Given the description of an element on the screen output the (x, y) to click on. 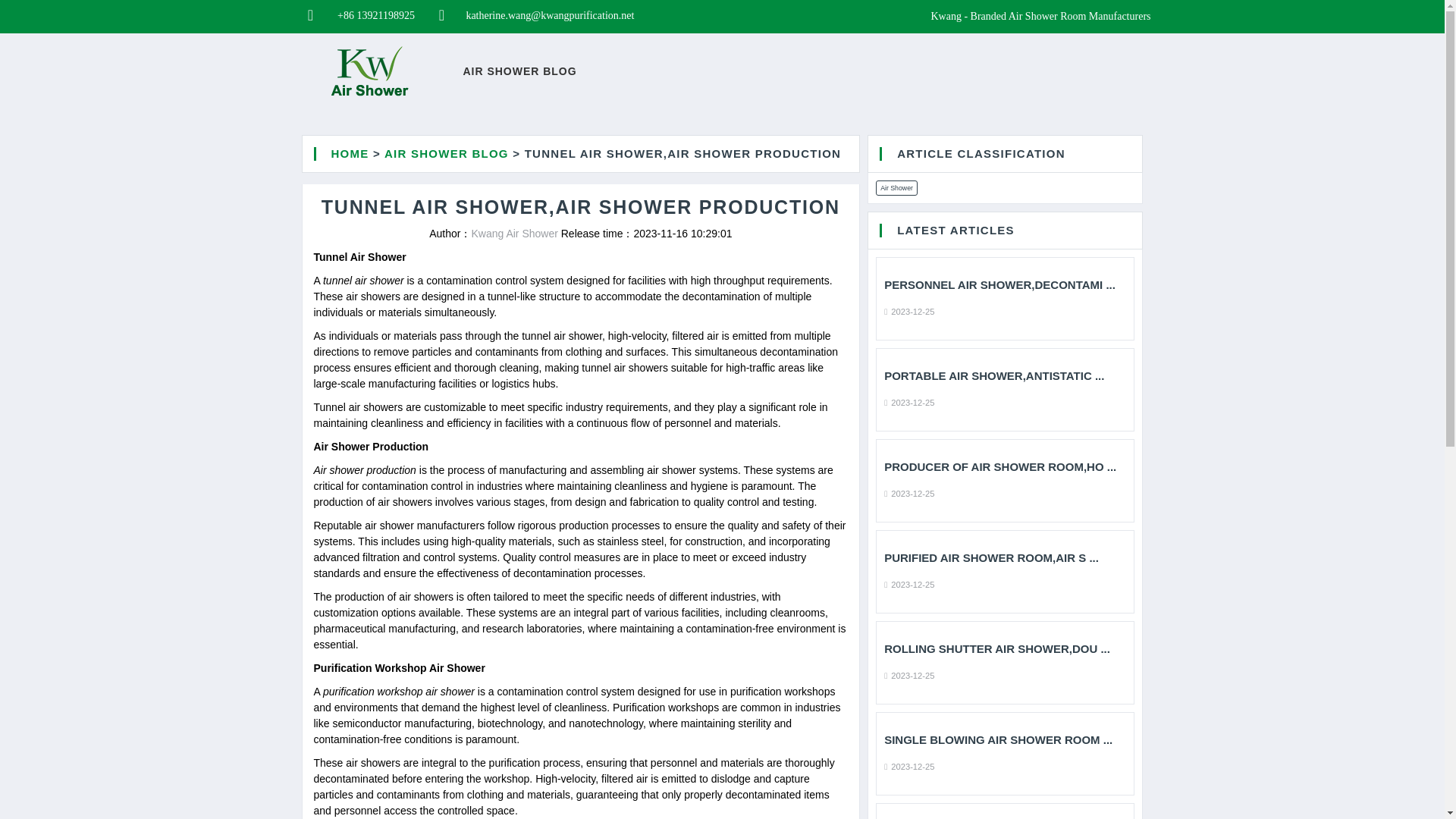
2023-12-25 (908, 492)
2023-12-25 (908, 766)
AIR SHOWER BLOG (446, 153)
Air Shower (896, 187)
PERSONNEL AIR SHOWER,DECONTAMI ... (1004, 284)
PRODUCER OF AIR SHOWER ROOM,HO ... (1004, 467)
Kwang Air Shower (513, 233)
ROLLING SHUTTER AIR SHOWER,DOU ... (1004, 649)
SINGLE BLOWING AIR SHOWER ROOM ... (1004, 739)
2023-12-25 (908, 401)
PORTABLE AIR SHOWER,ANTISTATIC ... (1004, 376)
AIR SHOWER BLOG (519, 70)
2023-12-25 (908, 310)
2023-12-25 (908, 583)
PURIFIED AIR SHOWER ROOM,AIR S ... (1004, 558)
